Given the description of an element on the screen output the (x, y) to click on. 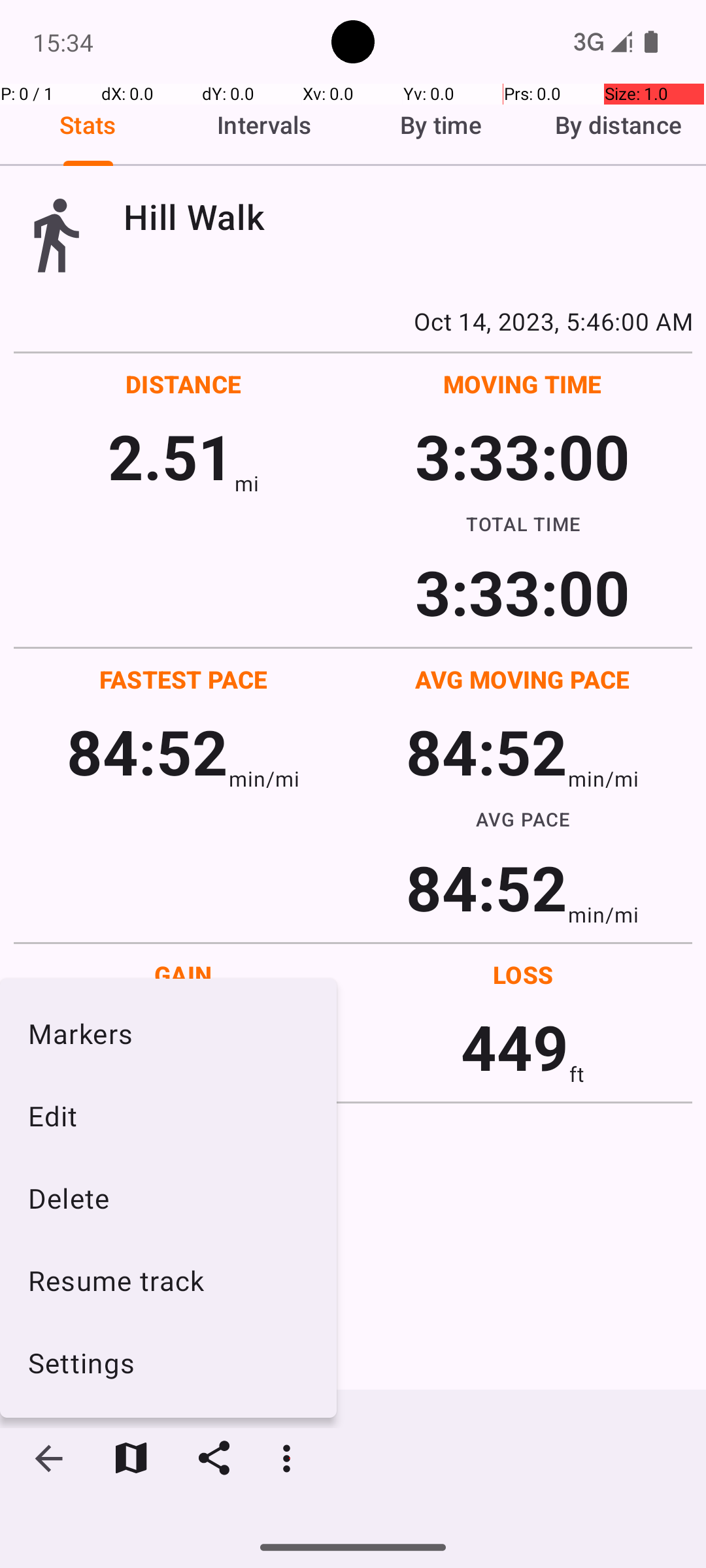
Markers Element type: android.widget.TextView (168, 1032)
Resume track Element type: android.widget.TextView (168, 1279)
